Given the description of an element on the screen output the (x, y) to click on. 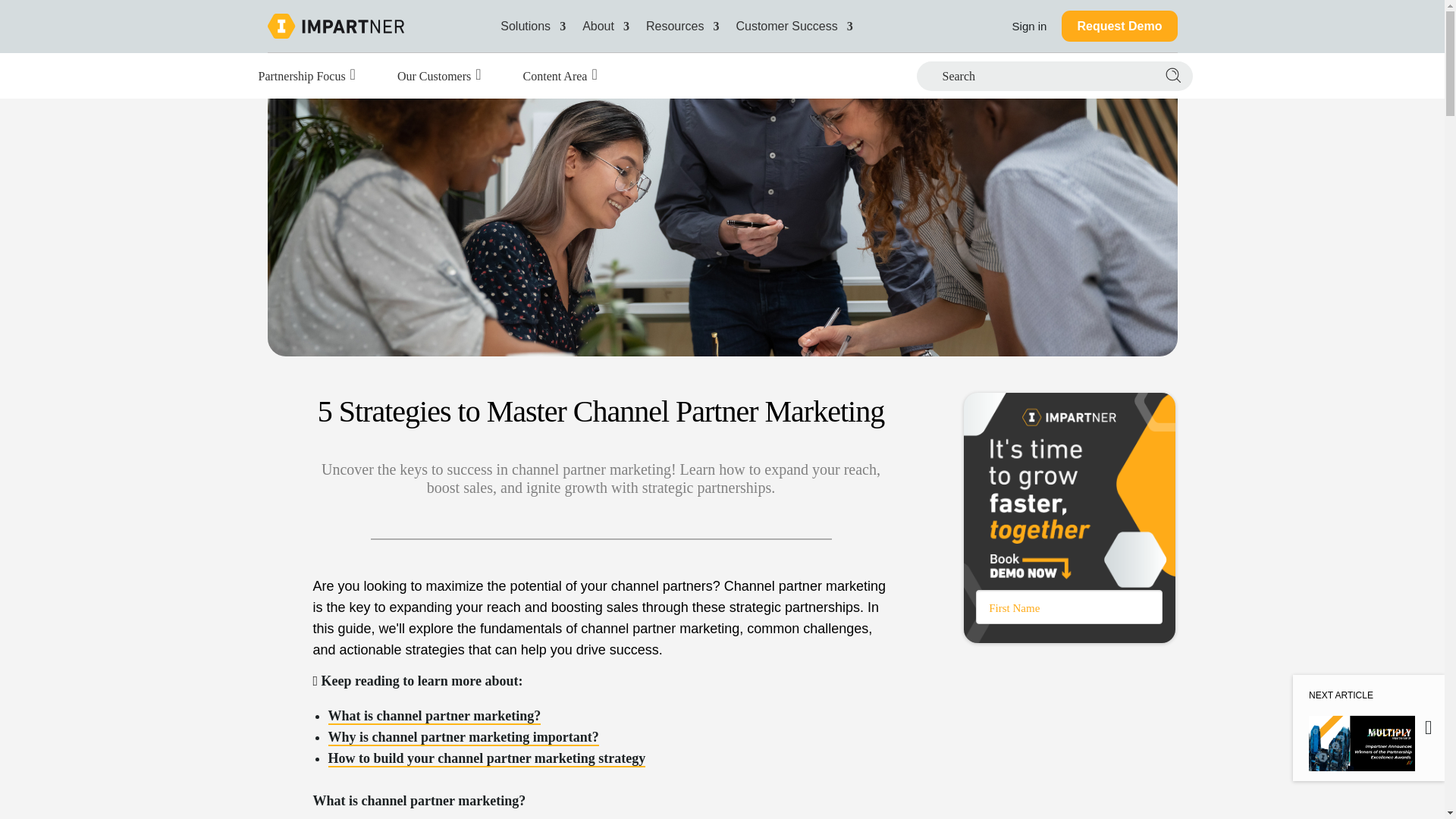
Request Demo (1118, 25)
Open Search Box (996, 75)
Customer Success (793, 26)
Sign in (1029, 25)
logo-Impartner (334, 25)
Search sitewide (1171, 76)
About (605, 26)
Solutions (533, 26)
Resources (682, 26)
